Given the description of an element on the screen output the (x, y) to click on. 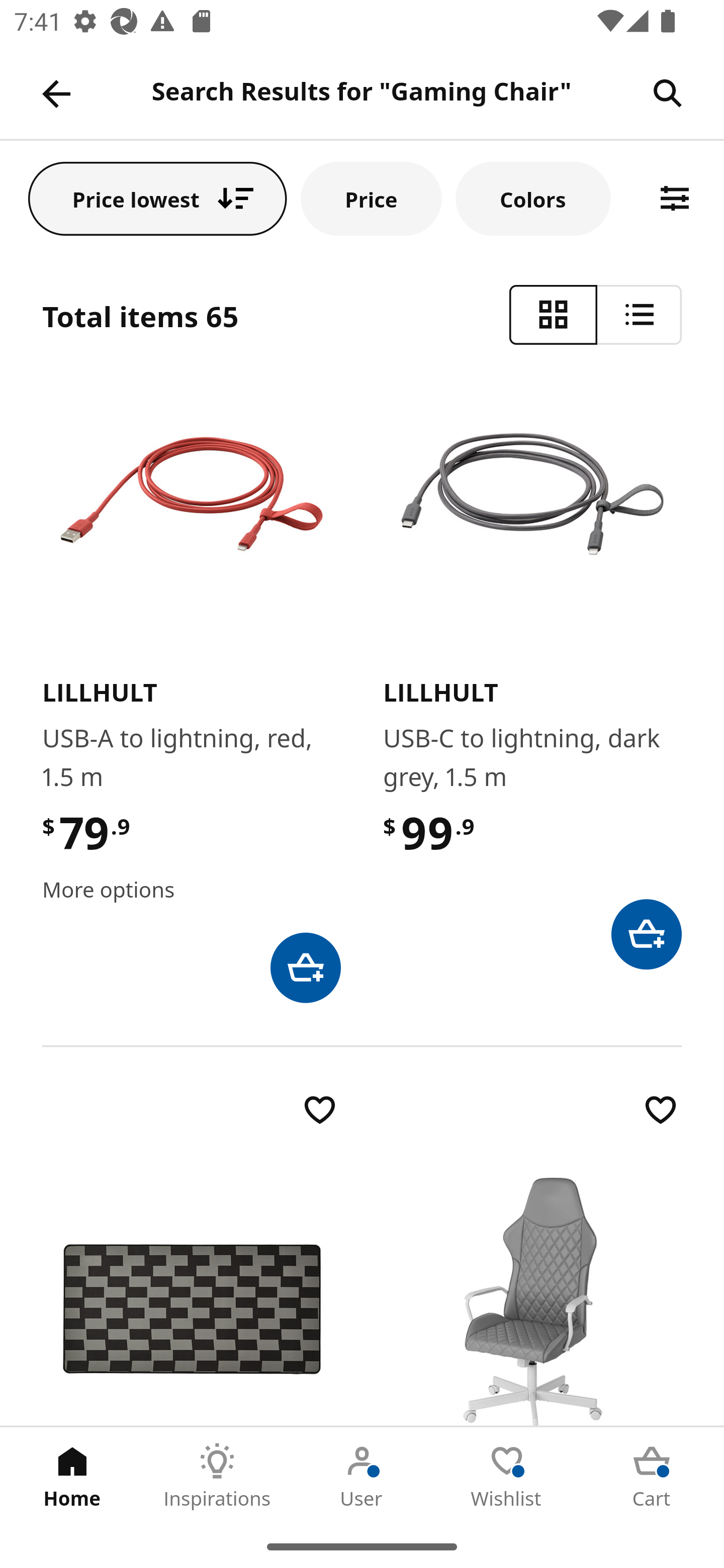
Price lowest (157, 198)
Price (371, 198)
Colors (533, 198)
Home
Tab 1 of 5 (72, 1476)
Inspirations
Tab 2 of 5 (216, 1476)
User
Tab 3 of 5 (361, 1476)
Wishlist
Tab 4 of 5 (506, 1476)
Cart
Tab 5 of 5 (651, 1476)
